Given the description of an element on the screen output the (x, y) to click on. 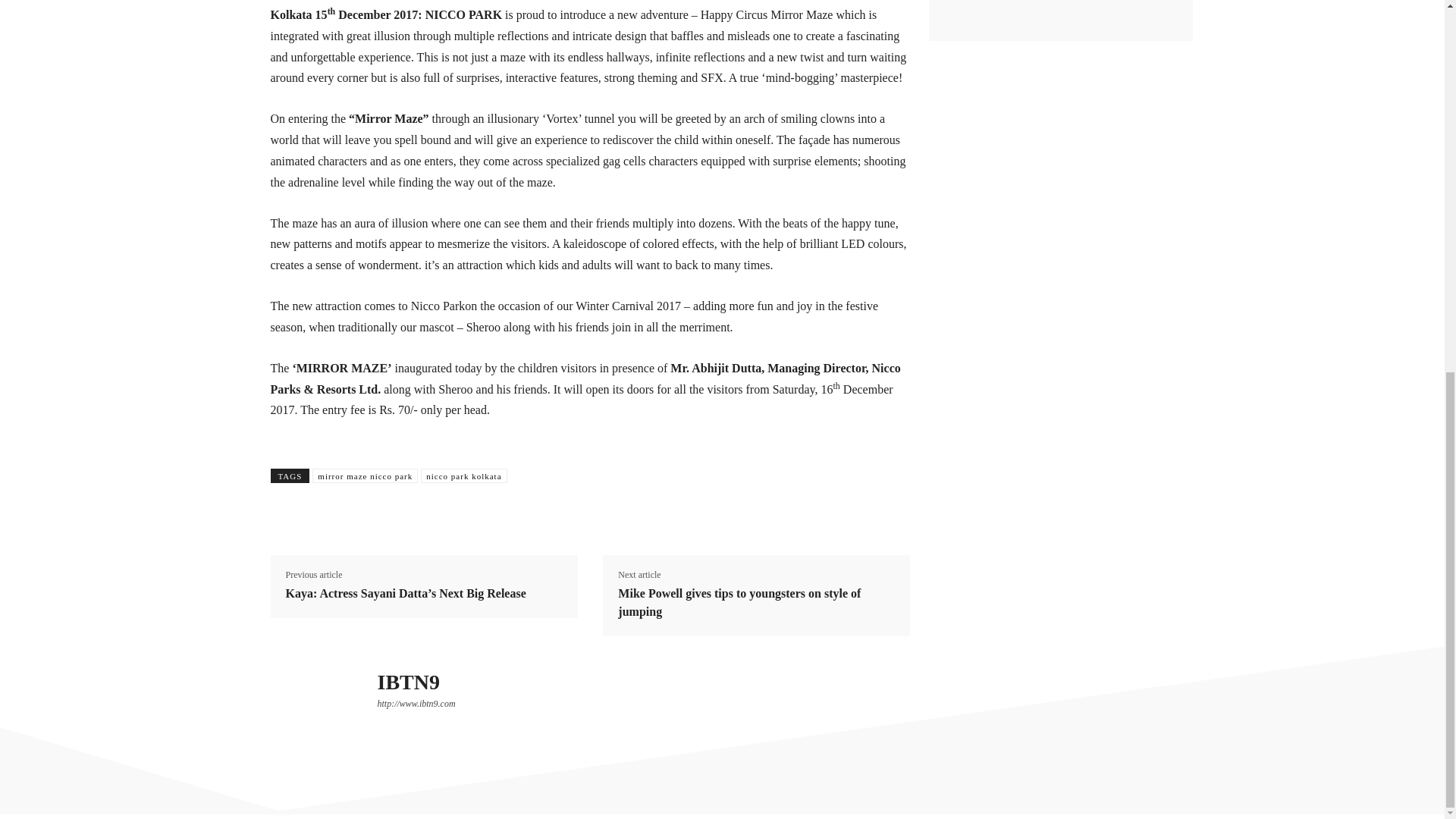
IBTN9 (315, 705)
